Given the description of an element on the screen output the (x, y) to click on. 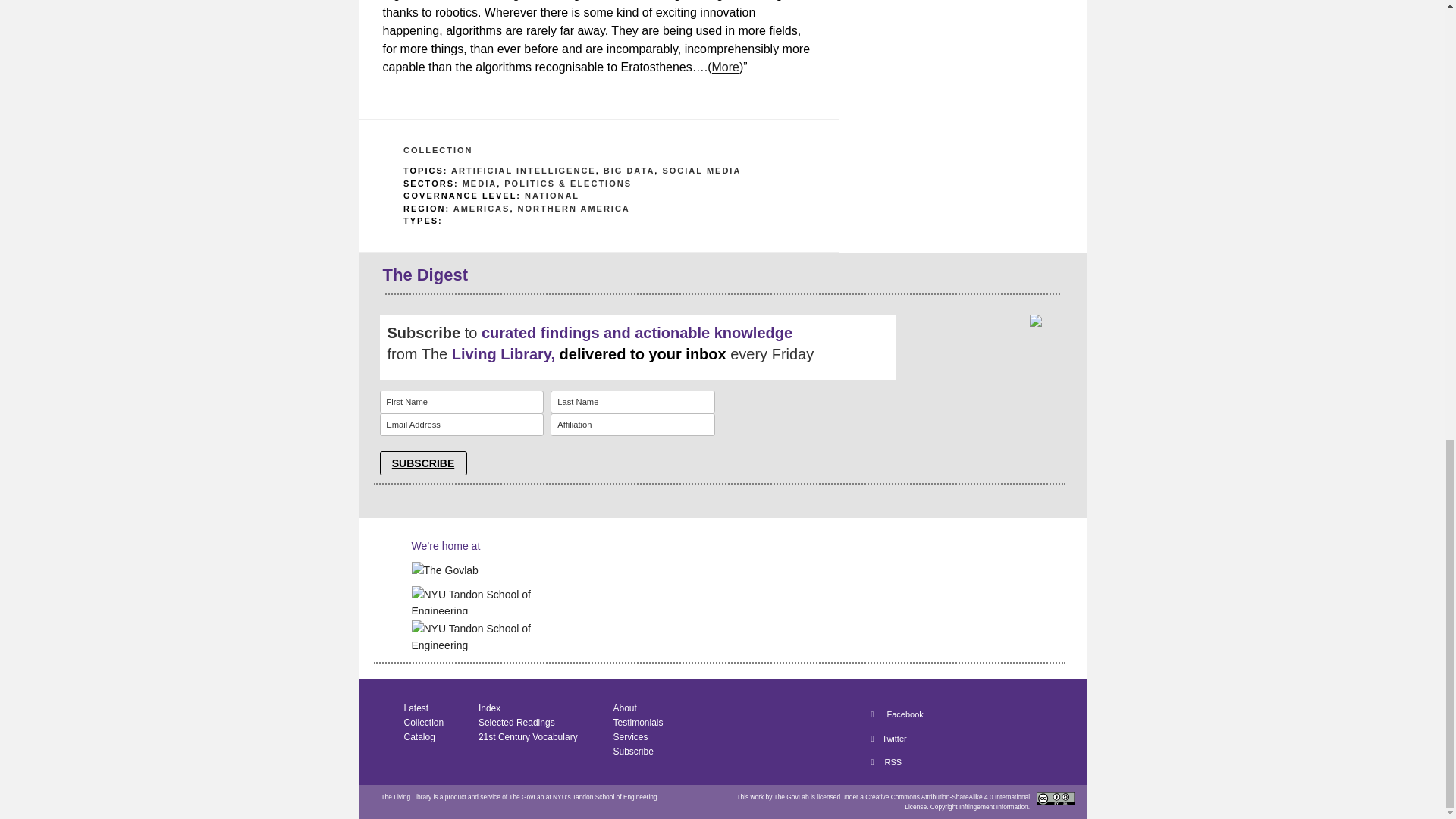
NATIONAL (551, 194)
SOCIAL MEDIA (701, 170)
More (725, 66)
BIG DATA (629, 170)
AMERICAS (481, 207)
NORTHERN AMERICA (572, 207)
SUBSCRIBE (421, 463)
SUBSCRIBE (421, 463)
MEDIA (479, 183)
ARTIFICIAL INTELLIGENCE (523, 170)
COLLECTION (438, 149)
